Given the description of an element on the screen output the (x, y) to click on. 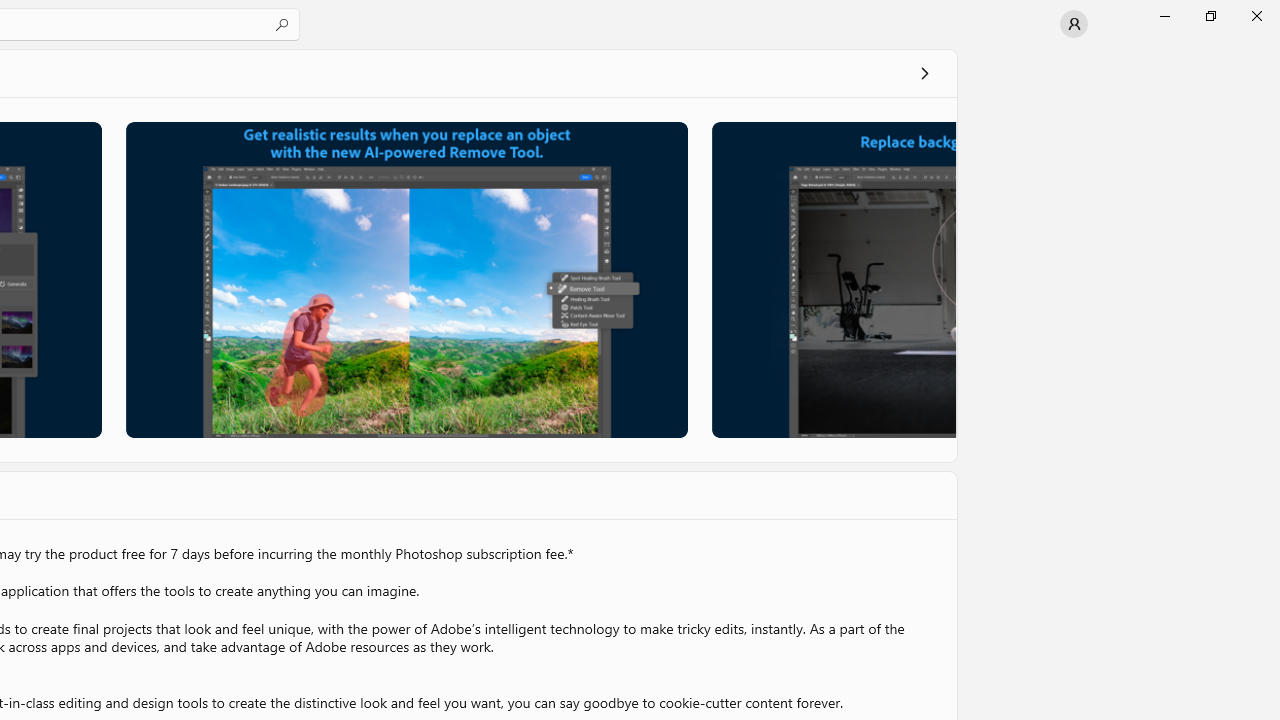
Close Microsoft Store (1256, 15)
Minimize Microsoft Store (1164, 15)
Screenshot 3 (833, 279)
User profile (1073, 24)
Restore Microsoft Store (1210, 15)
Screenshot 2 (406, 279)
See all (924, 72)
